Given the description of an element on the screen output the (x, y) to click on. 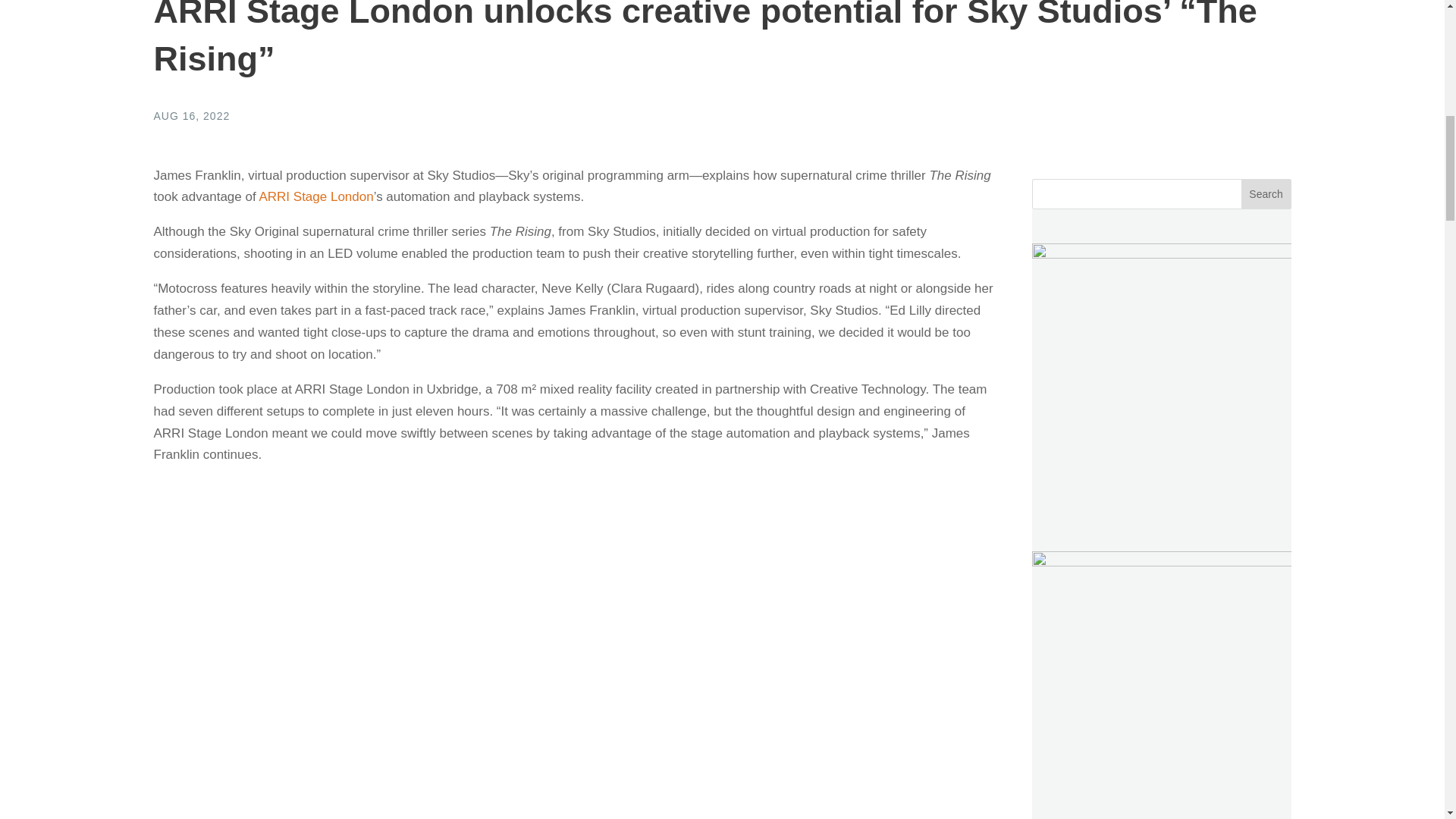
Search (1266, 194)
Search (1266, 194)
ARRI Stage London (315, 196)
